Given the description of an element on the screen output the (x, y) to click on. 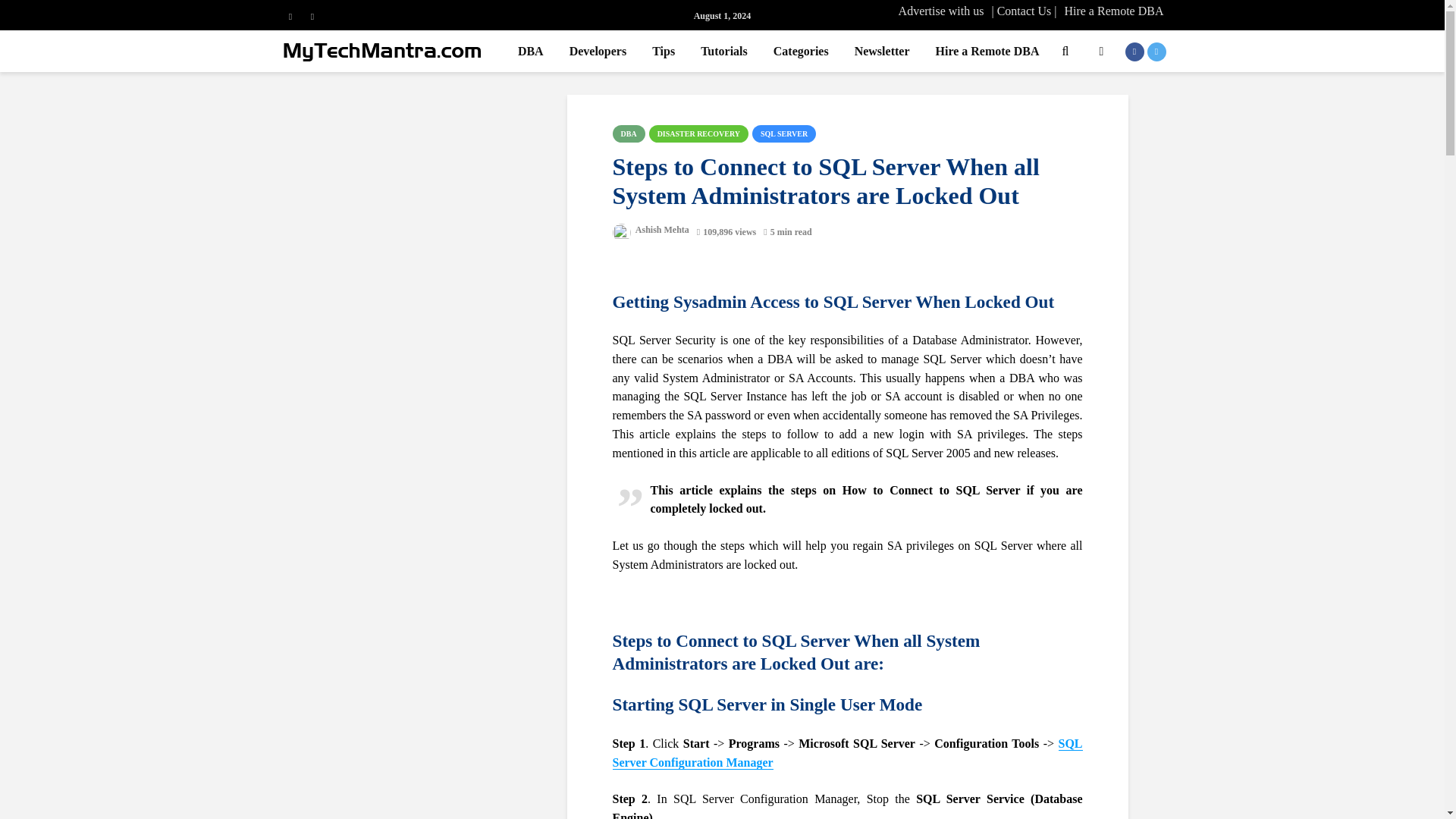
Tutorials (723, 51)
SQL SERVER (783, 133)
Categories (800, 51)
DBA (530, 51)
Advertise with us (941, 11)
Hire a Remote DBA (1113, 11)
Tips (662, 51)
DISASTER RECOVERY (698, 133)
DBA (628, 133)
Developers (598, 51)
Newsletter (882, 51)
Hire a Remote DBA (986, 51)
